Given the description of an element on the screen output the (x, y) to click on. 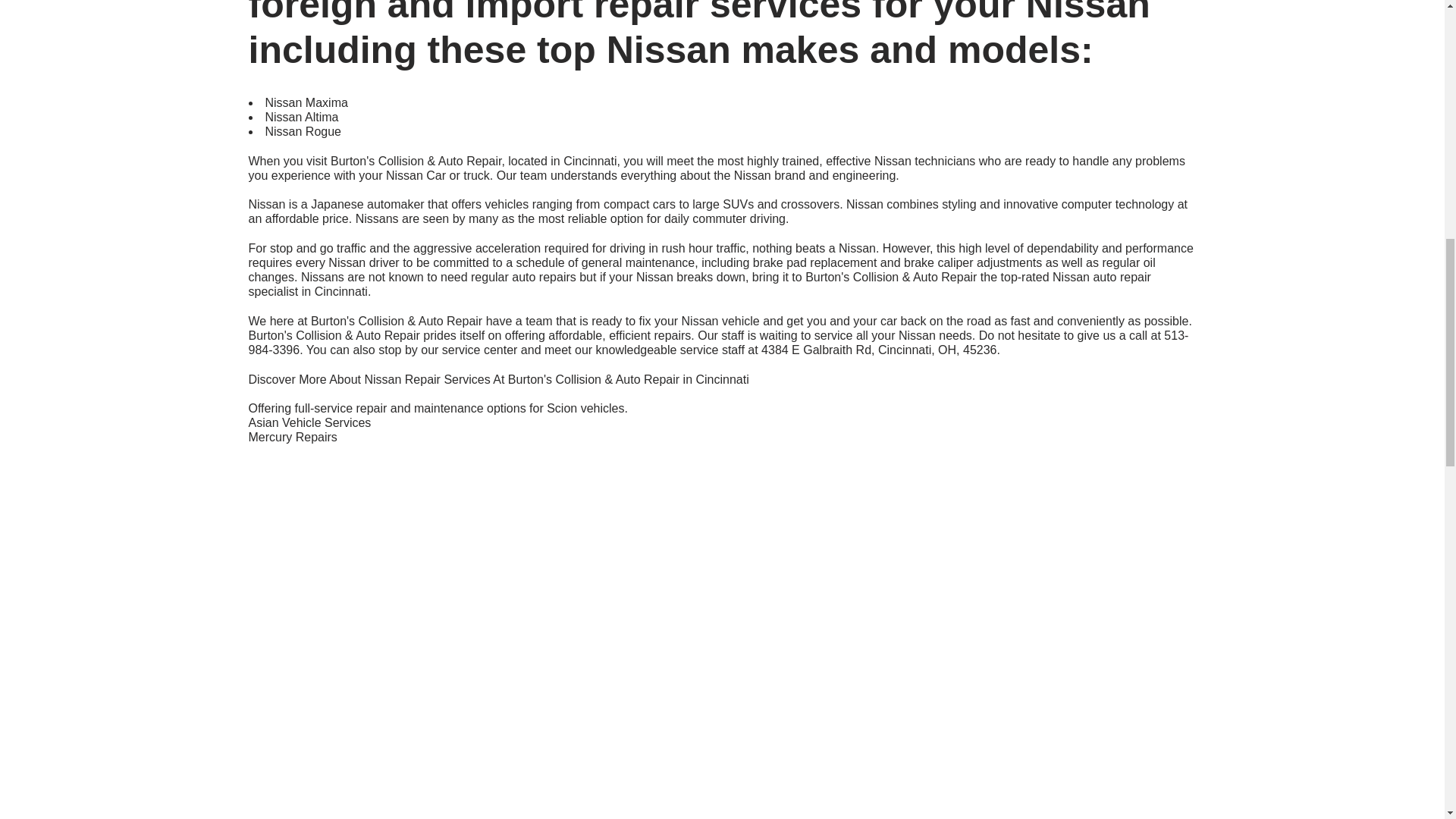
Mercury Repairs (292, 436)
Asian Vehicle Services (309, 422)
513-984-3396 (718, 342)
